Given the description of an element on the screen output the (x, y) to click on. 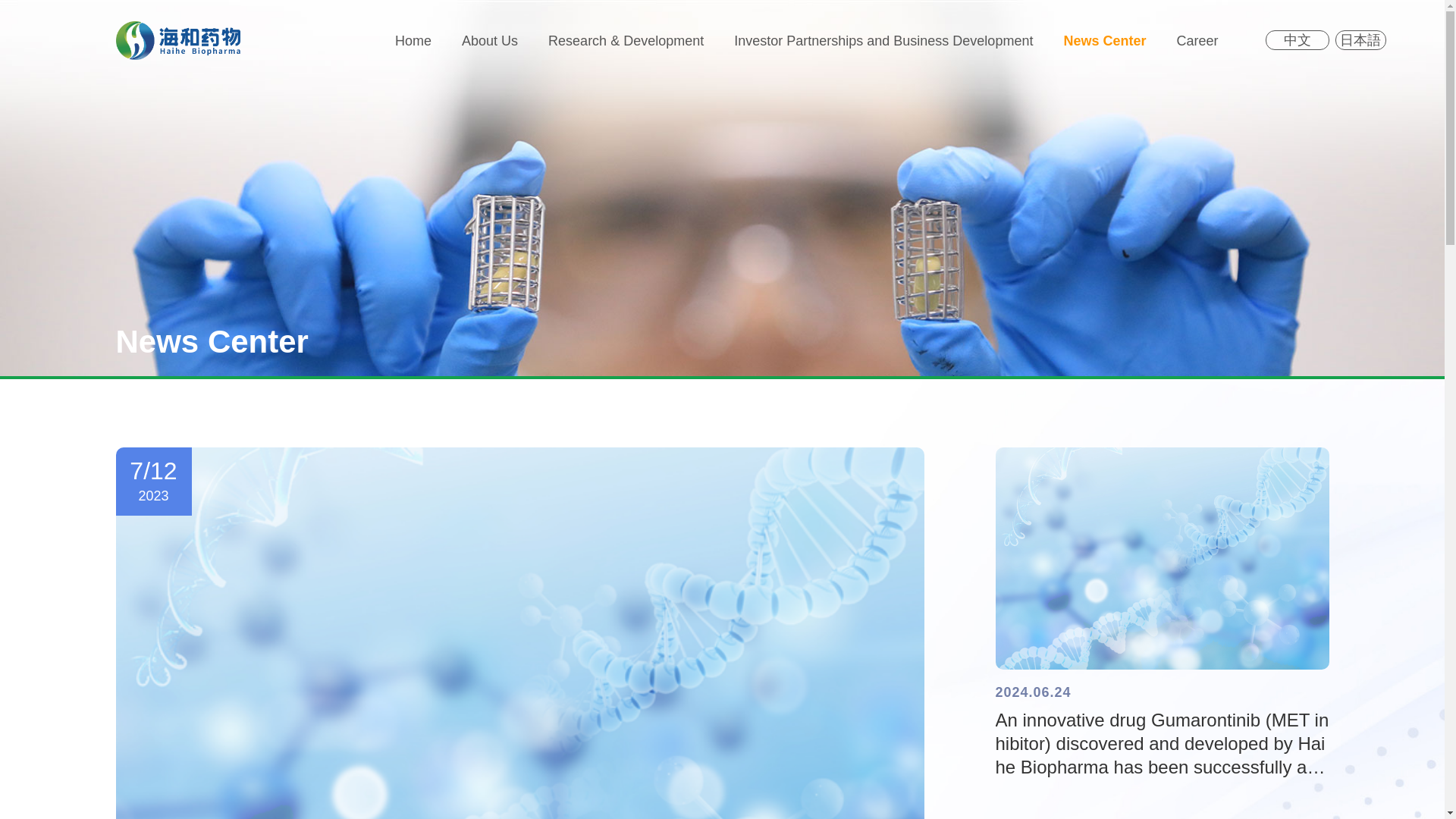
About Us (489, 40)
Career (1197, 40)
Investor Partnerships and Business Development (883, 40)
News Center (1104, 40)
Home (413, 40)
